Given the description of an element on the screen output the (x, y) to click on. 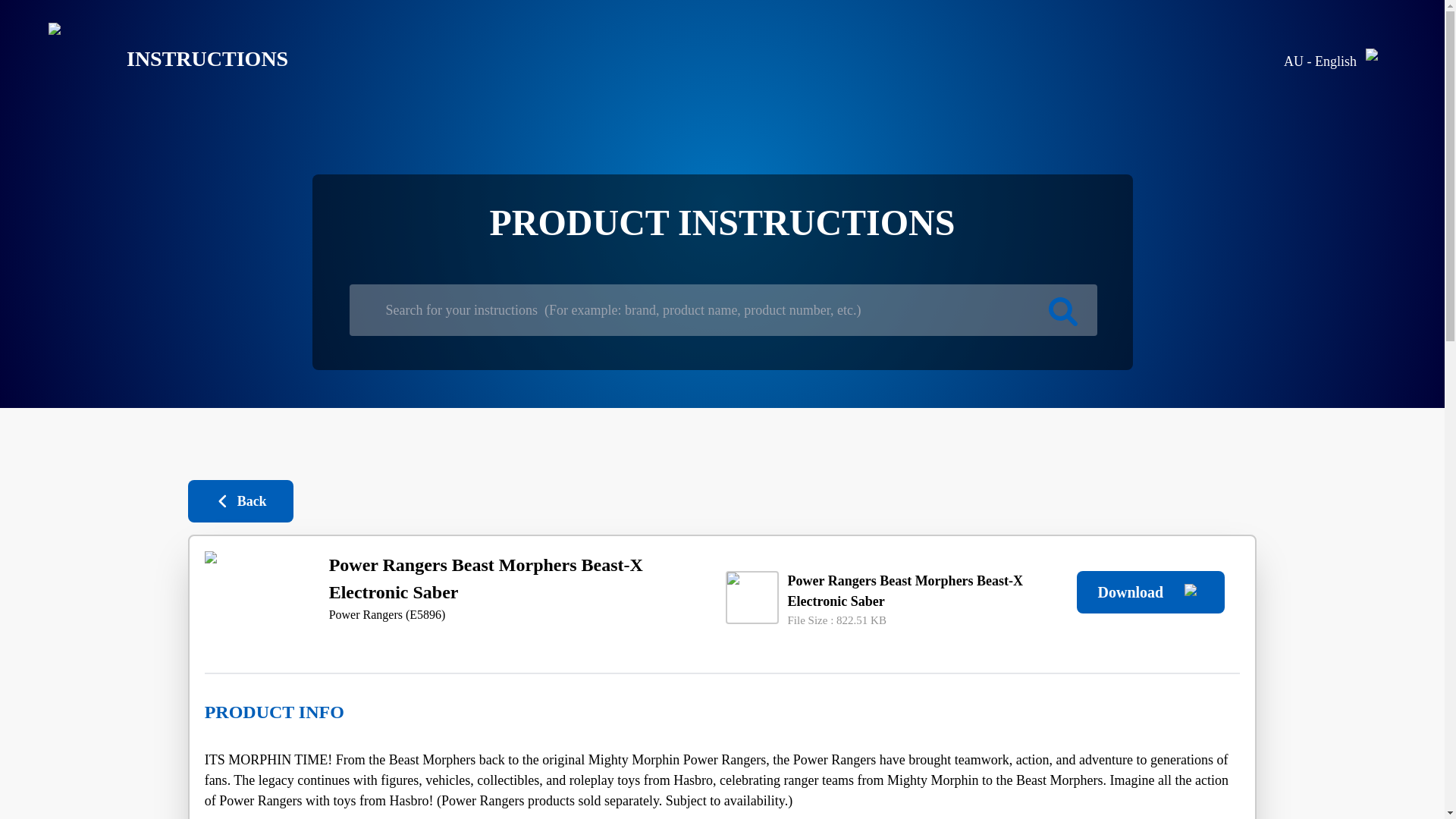
Back (240, 500)
Download (1150, 591)
INSTRUCTIONS (156, 59)
